Given the description of an element on the screen output the (x, y) to click on. 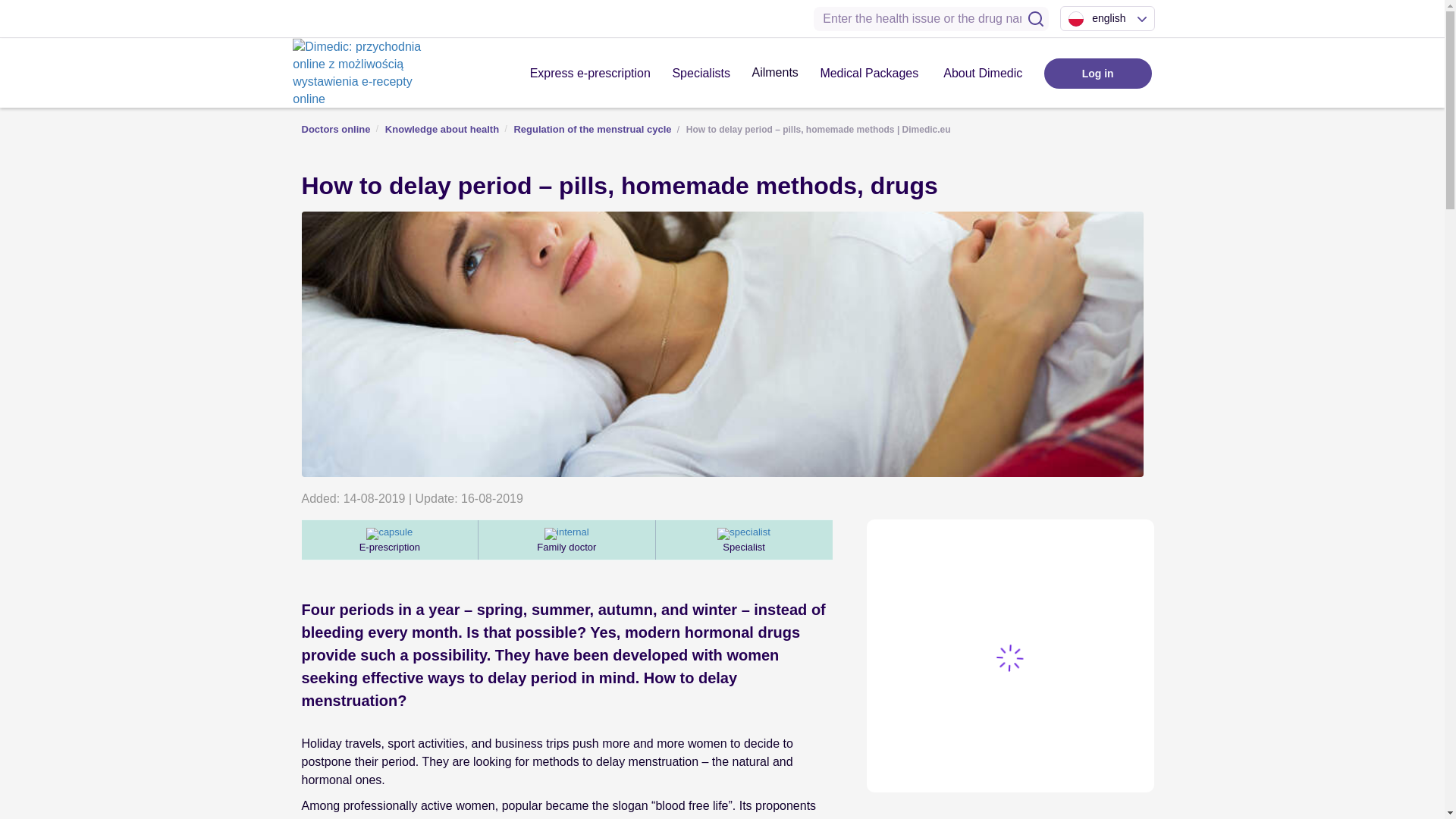
Express e-prescription (589, 73)
Medical Packages (868, 73)
Specialists (701, 73)
Specialists (701, 73)
Ailments (774, 72)
About Dimedic (983, 73)
